Given the description of an element on the screen output the (x, y) to click on. 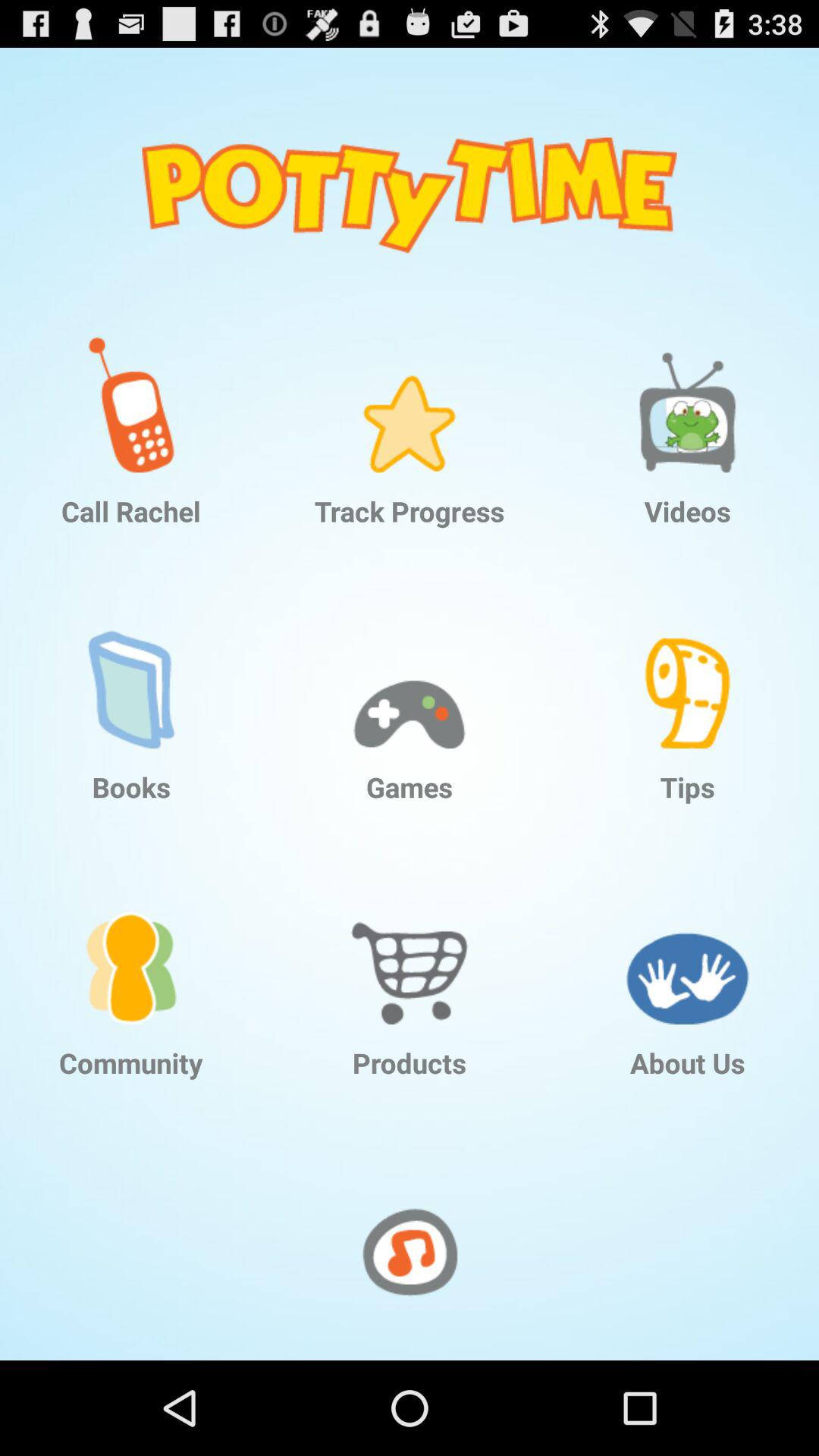
launch item above the tips icon (687, 668)
